Given the description of an element on the screen output the (x, y) to click on. 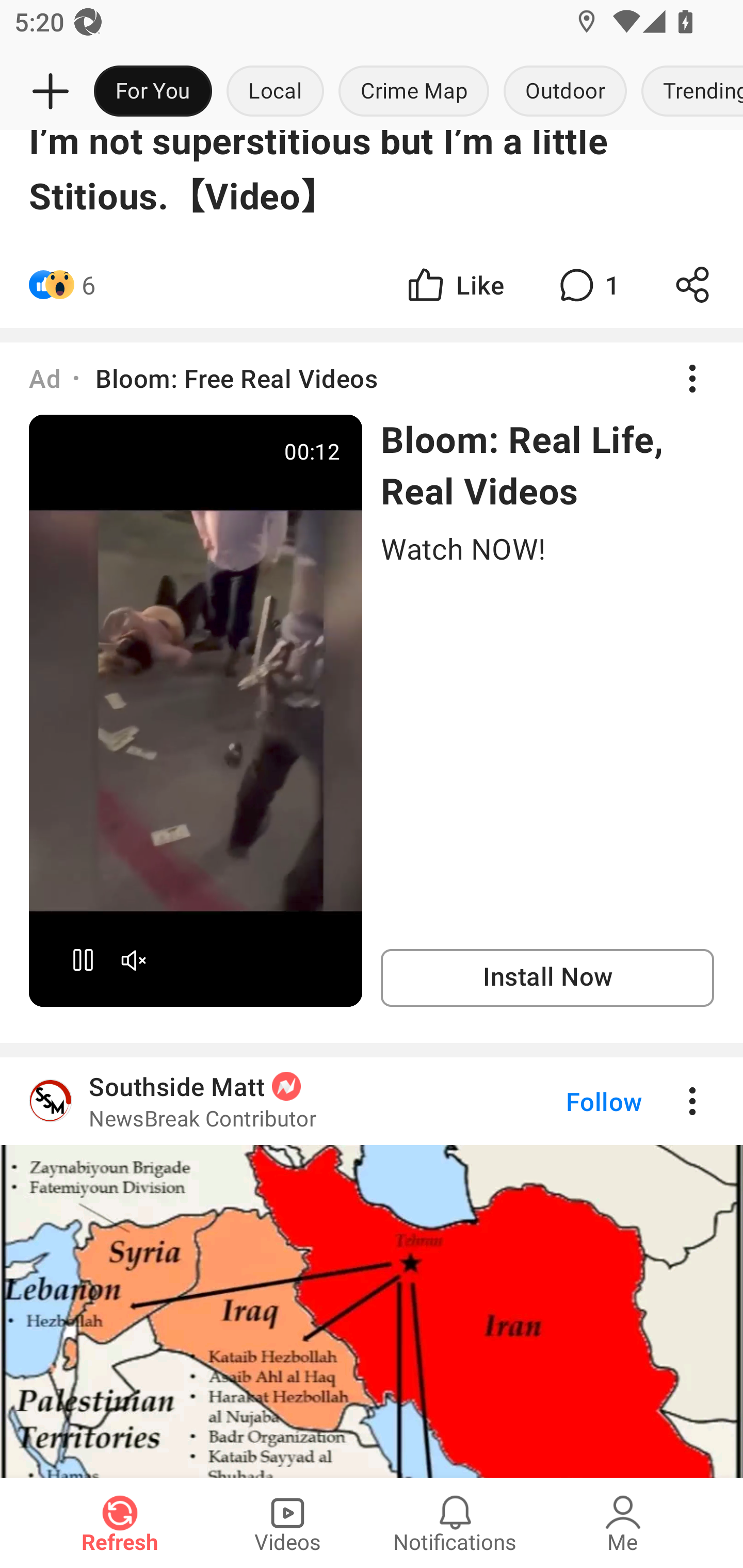
For You (152, 91)
Local (275, 91)
Crime Map (413, 91)
Outdoor (564, 91)
Trending (688, 91)
6 (88, 284)
Like (454, 284)
1 (587, 284)
Bloom: Free Real Videos (236, 377)
00:12 (195, 709)
Bloom: Real Life, Real Videos (547, 463)
Watch NOW! (547, 547)
Install Now (547, 977)
Southside Matt NewsBreak Contributor Follow (371, 1266)
Southside Matt NewsBreak Contributor Follow (371, 1100)
Follow (569, 1100)
Videos (287, 1522)
Notifications (455, 1522)
Me (622, 1522)
